Given the description of an element on the screen output the (x, y) to click on. 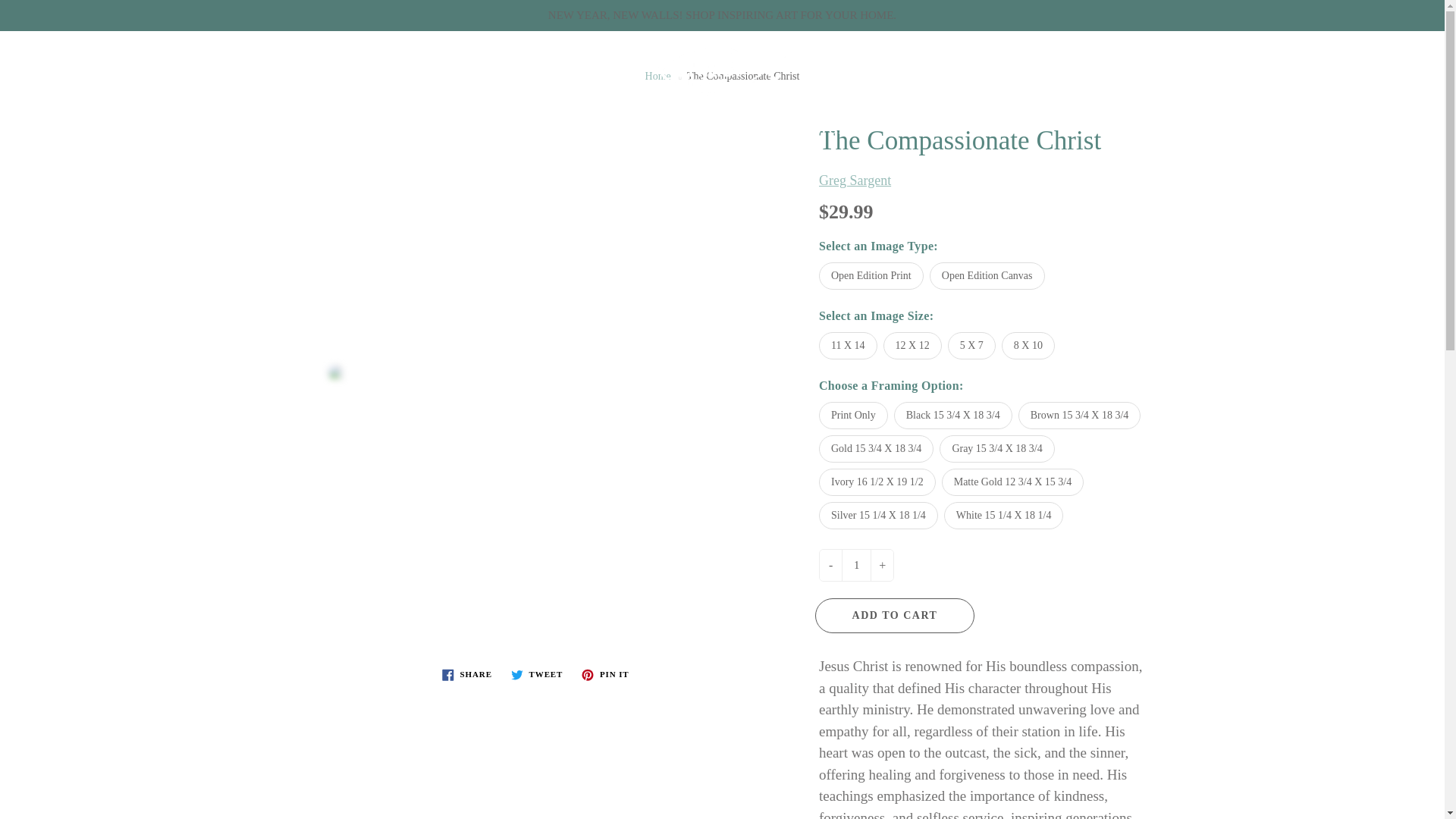
BIBLE STORIES ARTWORK (774, 129)
My account (1379, 56)
1 (855, 564)
You have 0 items in your cart (1417, 56)
SHOP (510, 129)
Search (28, 56)
Home (658, 75)
The Compassionate Christ (537, 372)
ARTISTS (608, 129)
